Given the description of an element on the screen output the (x, y) to click on. 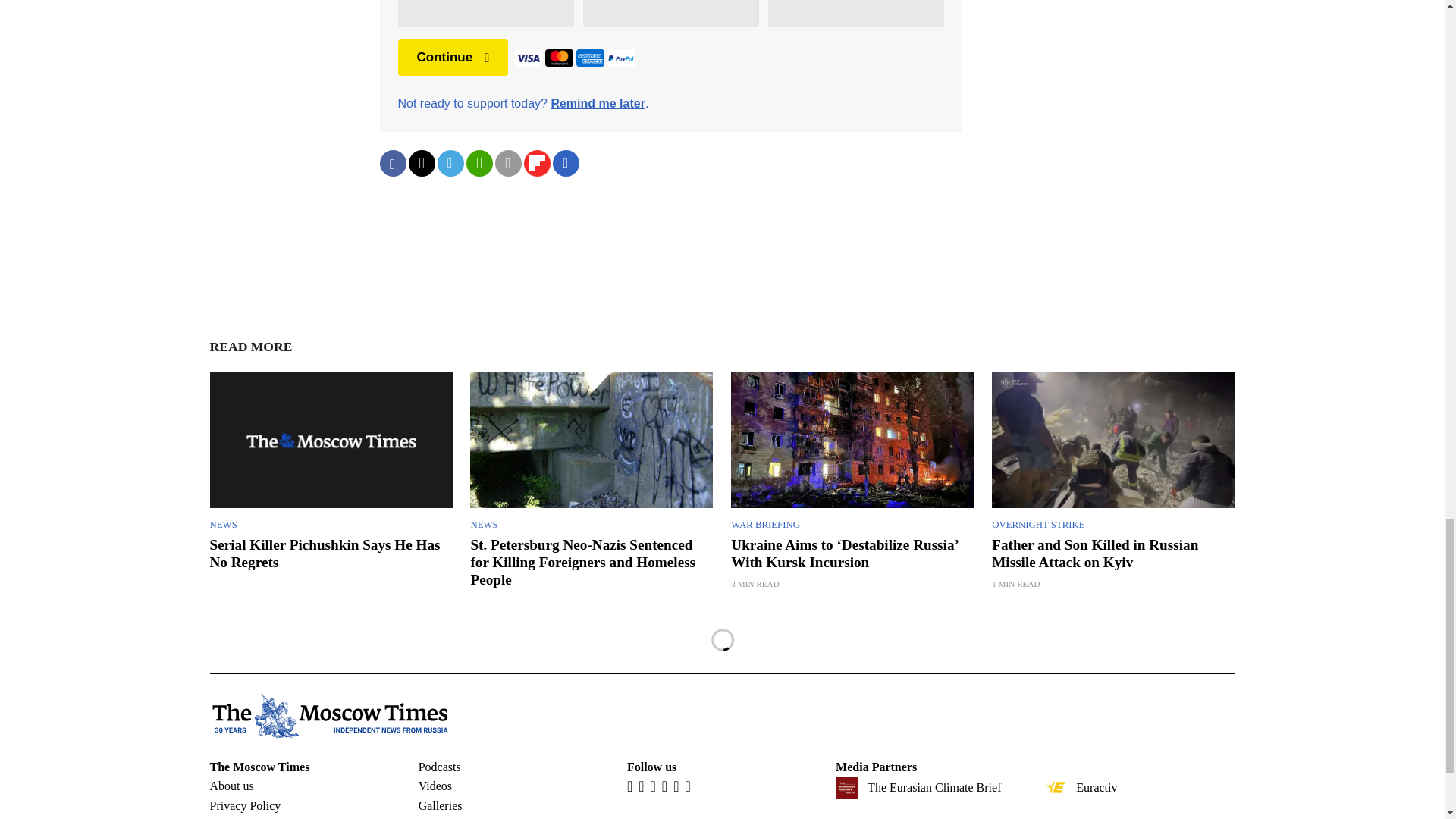
Share on Flipboard (536, 162)
Share on Twitter (420, 162)
Share on Facebook (392, 162)
Share on Telegram (449, 162)
